Given the description of an element on the screen output the (x, y) to click on. 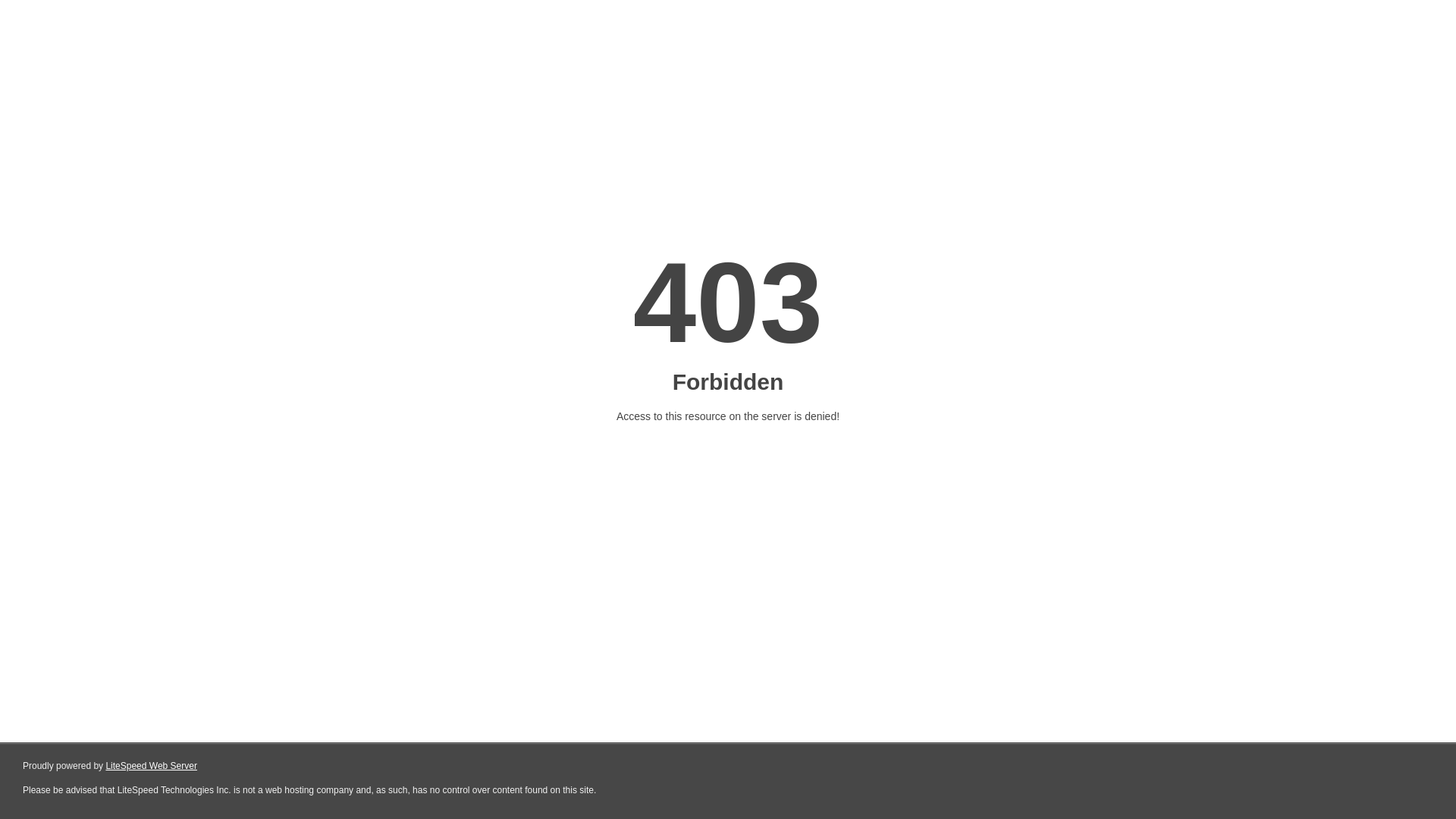
LiteSpeed Web Server Element type: text (151, 765)
